Given the description of an element on the screen output the (x, y) to click on. 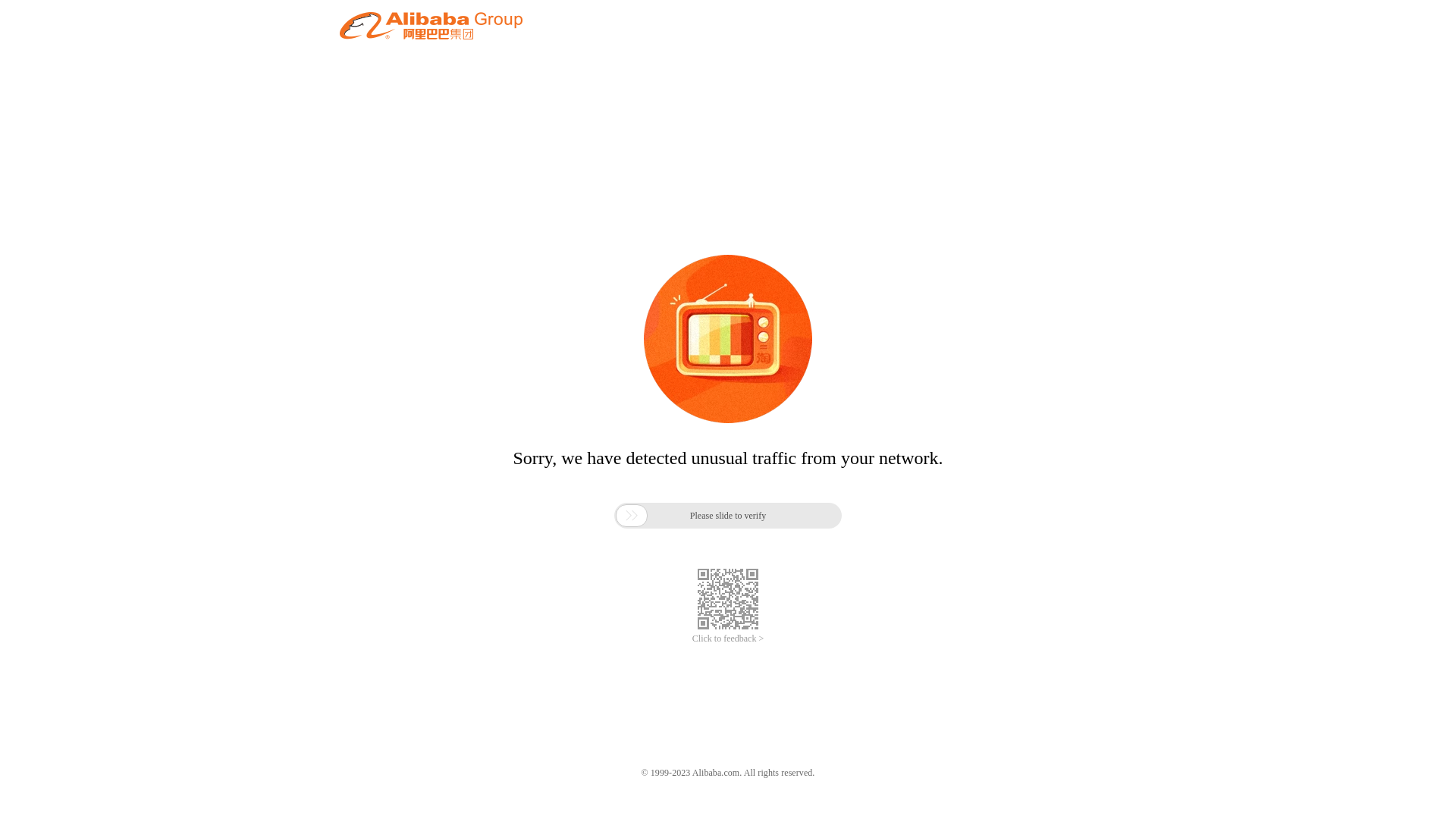
Click to feedback > Element type: text (727, 638)
